Given the description of an element on the screen output the (x, y) to click on. 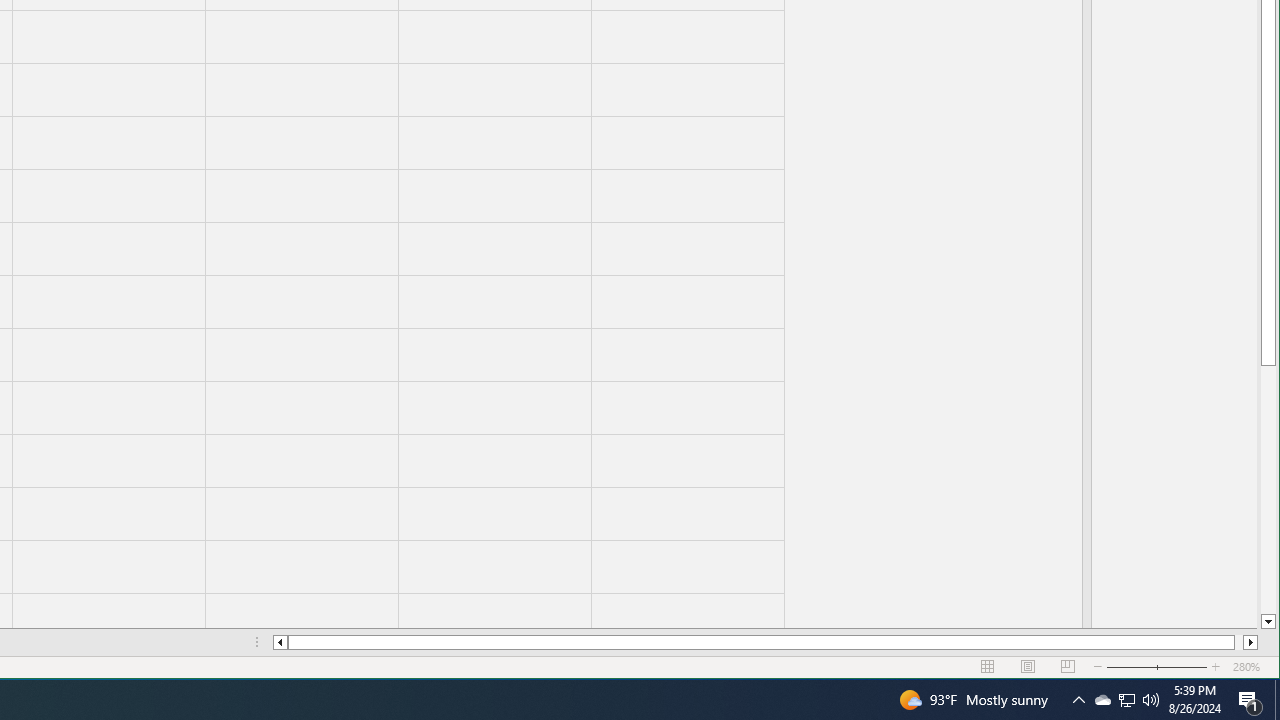
Page right (1238, 642)
Page down (1102, 699)
Action Center, 1 new notification (1268, 489)
User Promoted Notification Area (1126, 699)
Q2790: 100% (1250, 699)
